Given the description of an element on the screen output the (x, y) to click on. 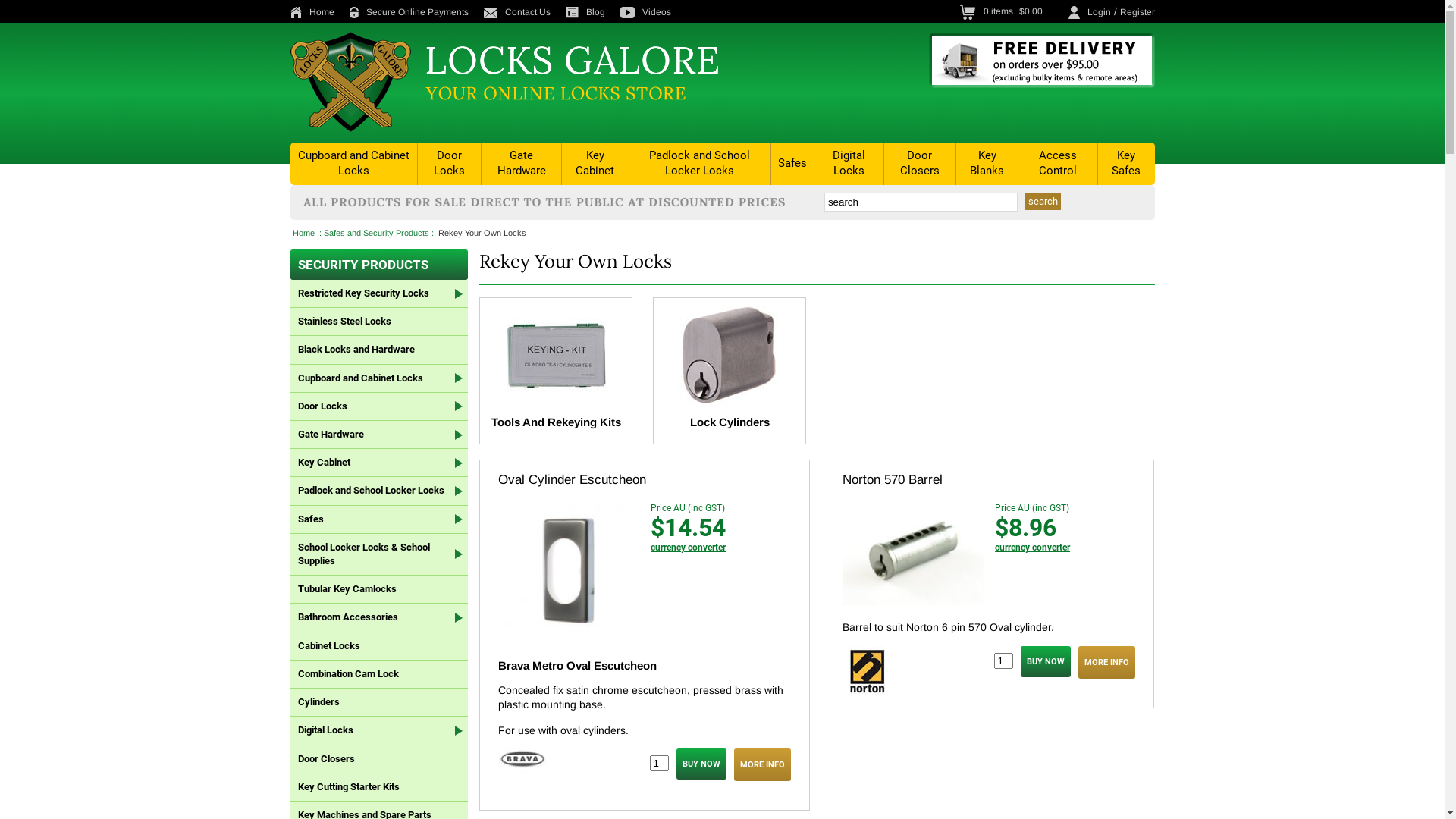
Tubular Key Camlocks Element type: text (378, 589)
Oval Cylinder Escutcheon Element type: text (572, 479)
Gate Hardware Element type: text (521, 163)
Door Locks Element type: text (378, 406)
Cupboard and Cabinet Locks Element type: text (354, 163)
Secure Online Payments Element type: text (414, 11)
Register Element type: text (1136, 11)
Key Blanks Element type: text (986, 163)
Lock Cylinders Element type: text (729, 421)
Safes Element type: text (792, 163)
search Element type: text (920, 201)
MORE INFO Element type: text (1106, 662)
Padlock and School Locker Locks Element type: text (378, 490)
Door Locks Element type: text (448, 163)
Door Closers Element type: text (378, 758)
MORE INFO Element type: text (762, 764)
Tools And Rekeying Kits Element type: text (556, 421)
Norton 570 Barrel Element type: text (892, 479)
BUY NOW Element type: text (1045, 661)
Cupboard and Cabinet Locks Element type: text (378, 378)
Key Cabinet Element type: text (378, 462)
Videos Element type: text (651, 11)
Home Element type: text (303, 232)
Key Safes Element type: text (1126, 163)
Door Closers Element type: text (919, 163)
Key Cutting Starter Kits Element type: text (378, 787)
search Element type: text (1042, 201)
Stainless Steel Locks Element type: text (378, 321)
Key Cabinet Element type: text (594, 163)
Home Element type: text (317, 11)
Digital Locks Element type: text (378, 730)
Black Locks and Hardware Element type: text (378, 349)
Safes and Security Products Element type: text (375, 232)
Restricted Key Security Locks Element type: text (378, 293)
Contact Us Element type: text (522, 11)
Login Element type: text (1098, 11)
BUY NOW Element type: text (701, 763)
Bathroom Accessories Element type: text (378, 617)
Rekey Your Own Locks Element type: text (482, 232)
Blog Element type: text (591, 11)
Gate Hardware Element type: text (378, 434)
Digital Locks Element type: text (848, 163)
Cylinders Element type: text (378, 702)
Access Control Element type: text (1057, 163)
Cabinet Locks Element type: text (378, 646)
School Locker Locks & School Supplies Element type: text (378, 554)
Padlock and School Locker Locks Element type: text (700, 163)
Combination Cam Lock Element type: text (378, 674)
Safes Element type: text (378, 519)
